Given the description of an element on the screen output the (x, y) to click on. 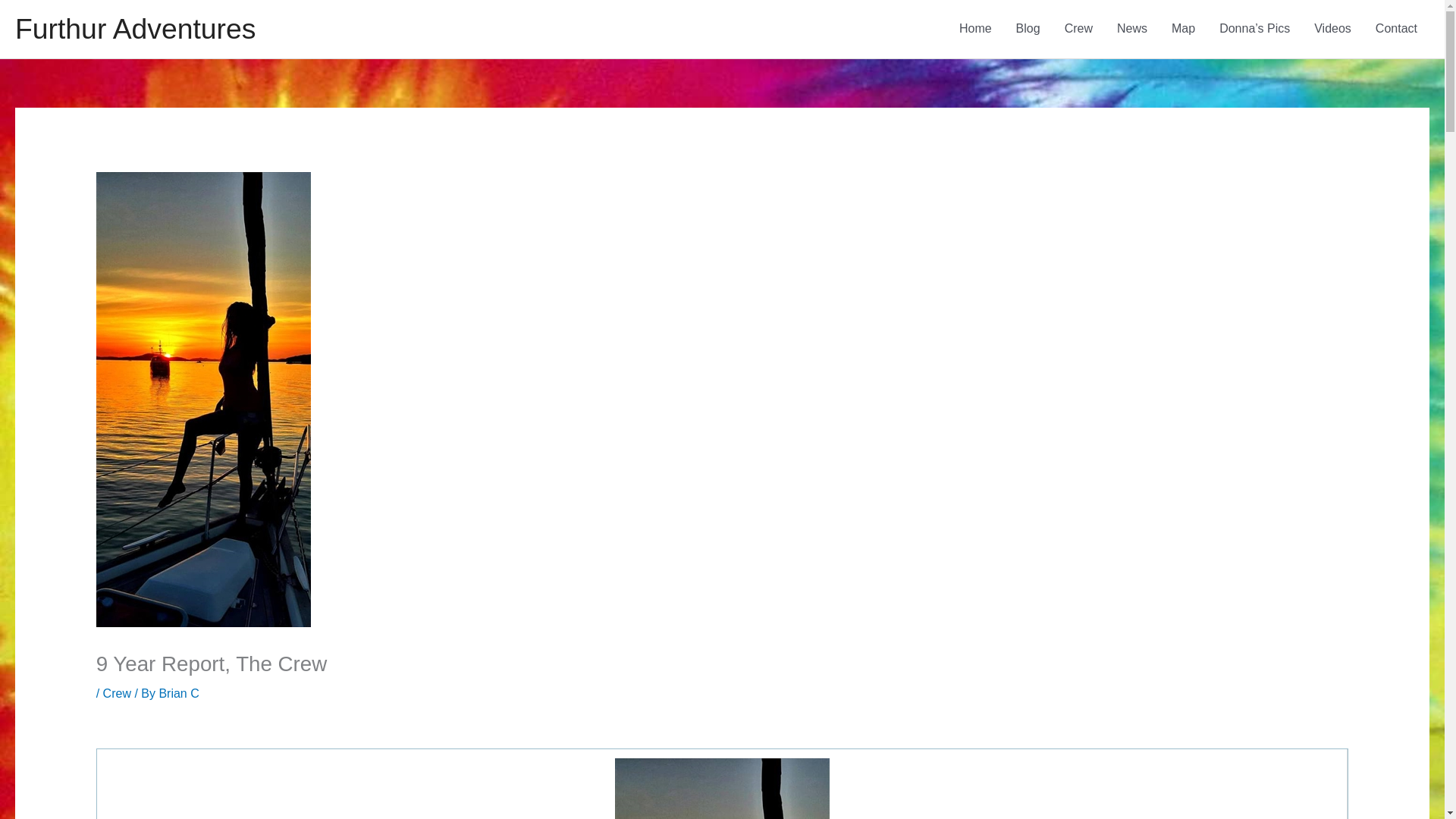
Videos (1331, 29)
News (1131, 29)
Crew (1078, 29)
Furthur Adventures (135, 29)
View all posts by Brian C (178, 693)
Contact (1395, 29)
Brian C (178, 693)
Crew (117, 693)
Home (975, 29)
